Given the description of an element on the screen output the (x, y) to click on. 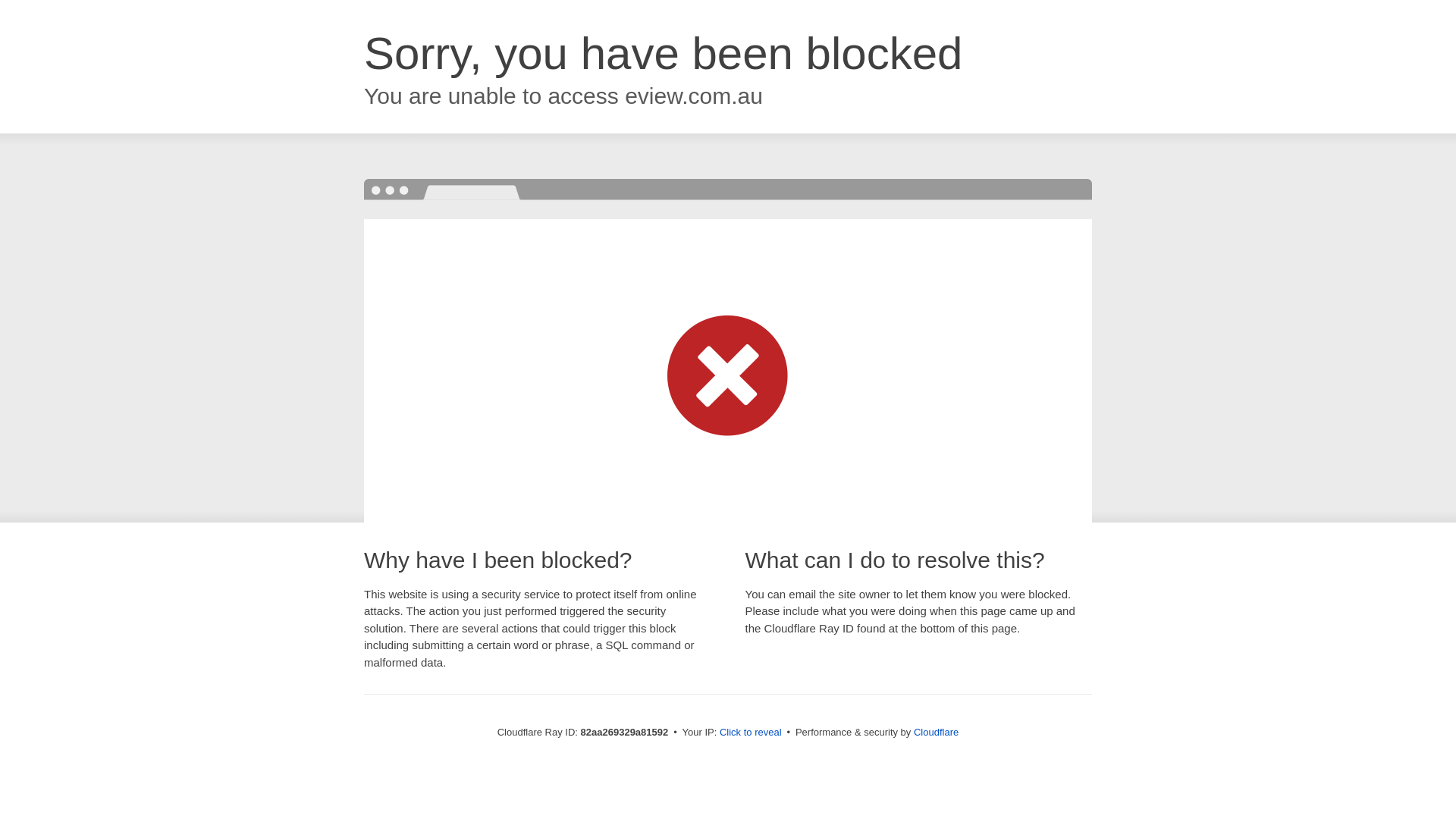
Cloudflare Element type: text (935, 731)
Click to reveal Element type: text (750, 732)
